Given the description of an element on the screen output the (x, y) to click on. 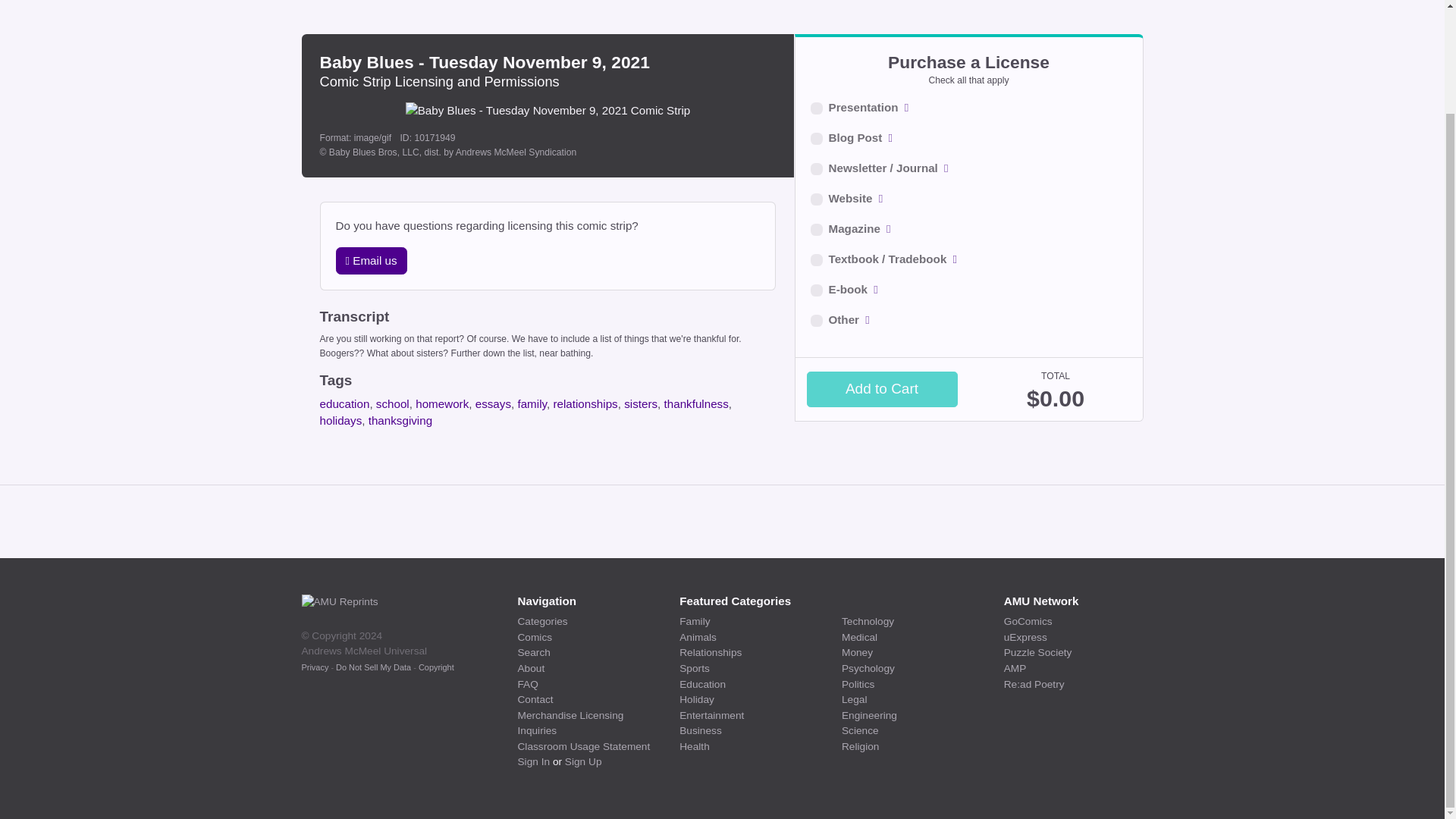
school (392, 403)
homework (441, 403)
sisters (641, 403)
essays (493, 403)
Email us (370, 261)
thankfulness (696, 403)
relationships (585, 403)
holidays (341, 420)
family (531, 403)
thanksgiving (400, 420)
